Given the description of an element on the screen output the (x, y) to click on. 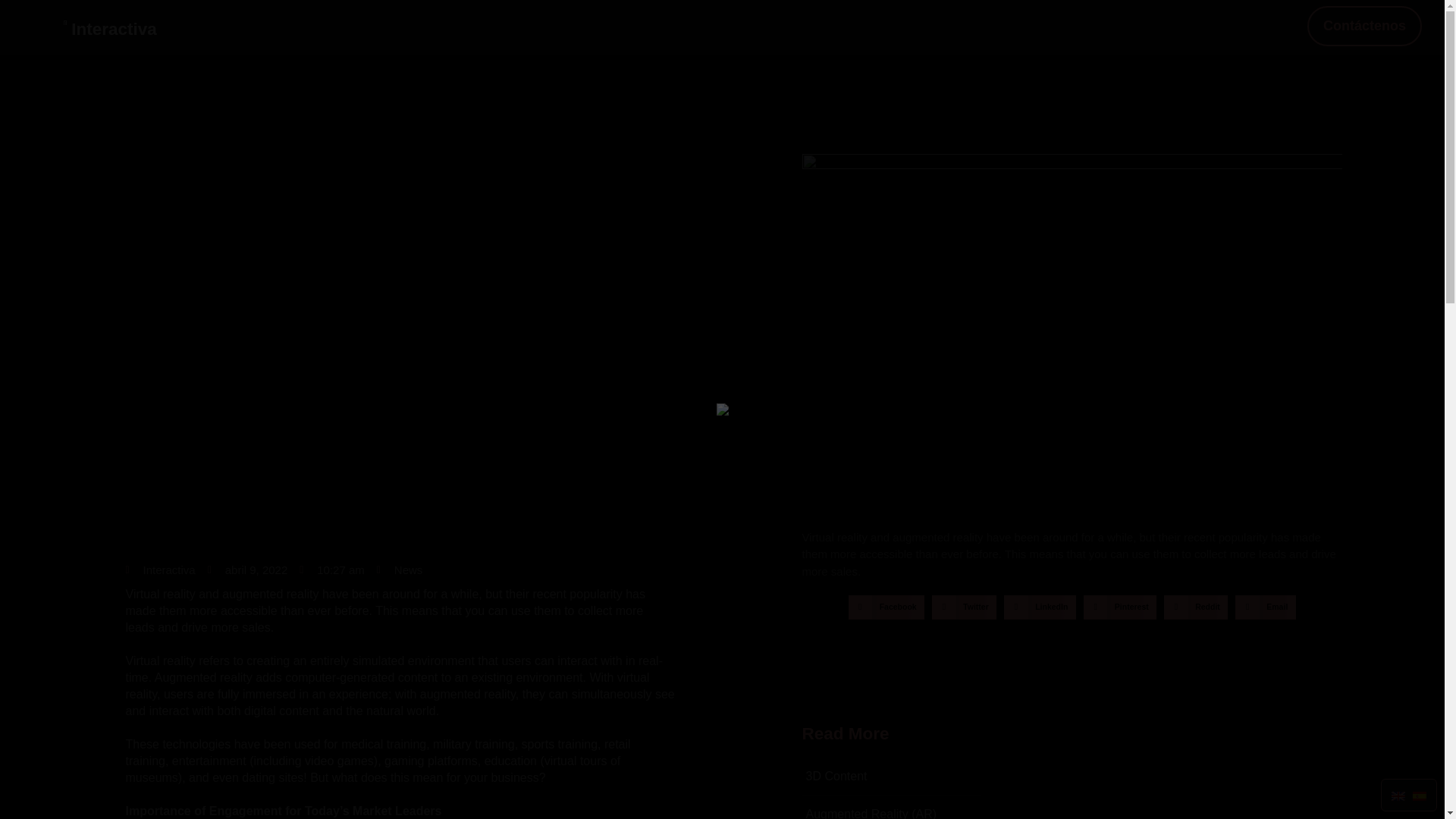
3D Content (891, 776)
abril 9, 2022 (248, 570)
Buscar (1356, 200)
Interactiva (114, 28)
